Given the description of an element on the screen output the (x, y) to click on. 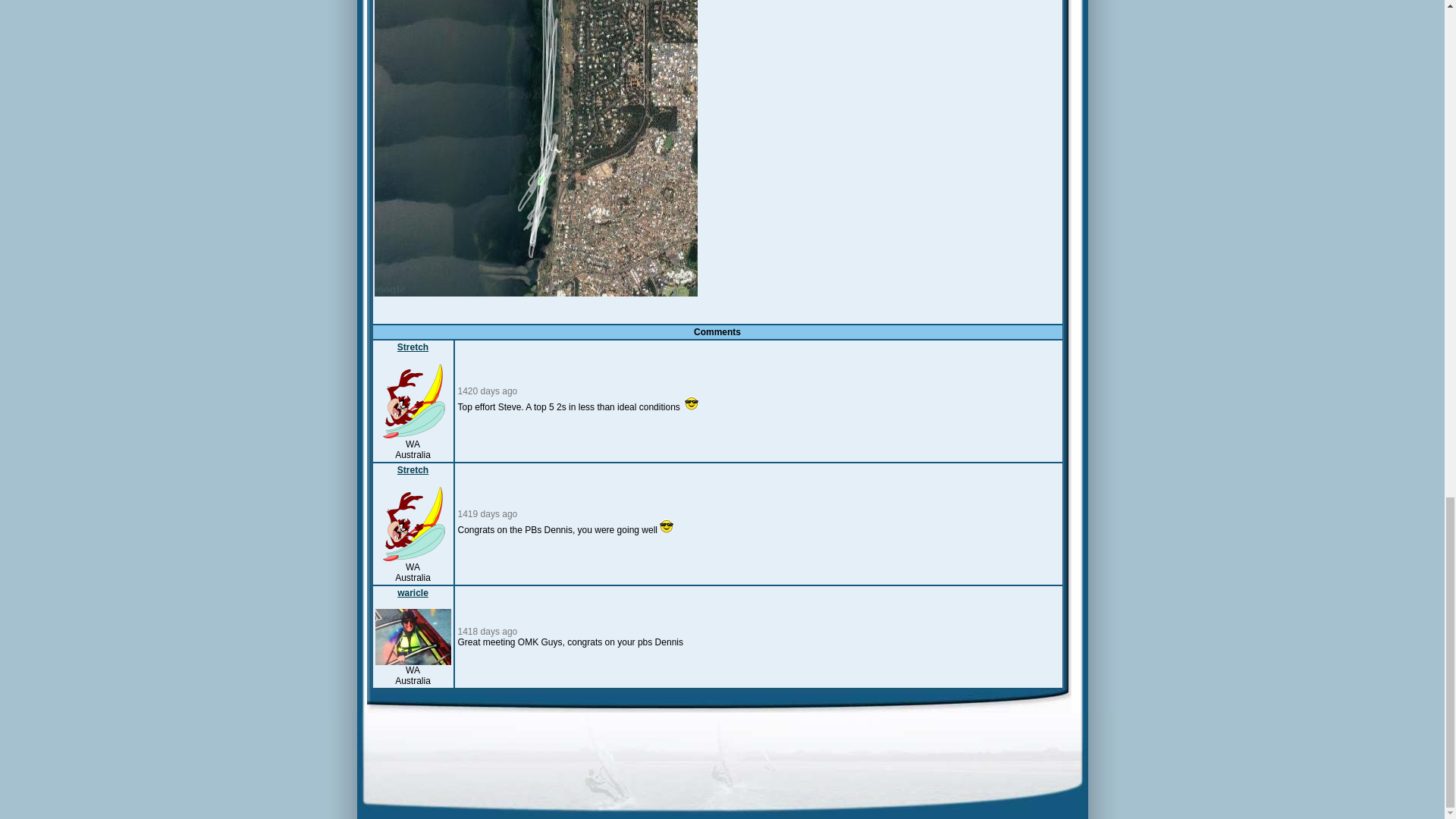
Cool (691, 403)
Cool (665, 526)
